Given the description of an element on the screen output the (x, y) to click on. 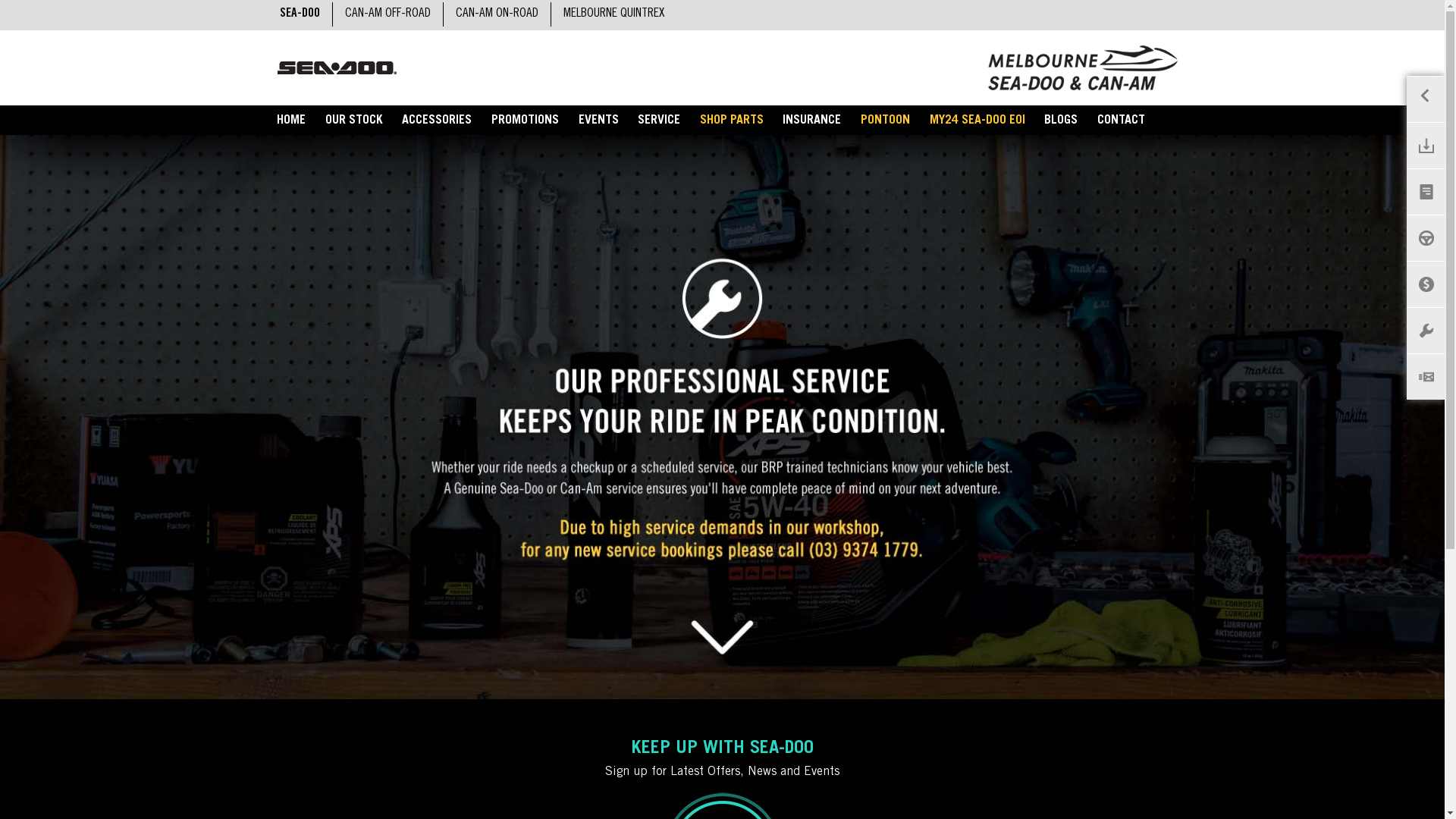
PONTOON Element type: text (884, 120)
SHOP PARTS Element type: text (731, 120)
OUR STOCK Element type: text (353, 120)
PROMOTIONS Element type: text (524, 120)
HOME Element type: text (290, 120)
SEA-DOO Element type: text (299, 13)
BLOGS Element type: text (1060, 120)
MY24 SEA-DOO EOI Element type: text (977, 120)
ACCESSORIES Element type: text (437, 120)
CAN-AM OFF-ROAD Element type: text (386, 13)
CAN-AM ON-ROAD Element type: text (496, 13)
CONTACT Element type: text (1120, 120)
EVENTS Element type: text (598, 120)
MELBOURNE QUINTREX Element type: text (613, 13)
INSURANCE Element type: text (812, 120)
SERVICE Element type: text (658, 120)
